Given the description of an element on the screen output the (x, y) to click on. 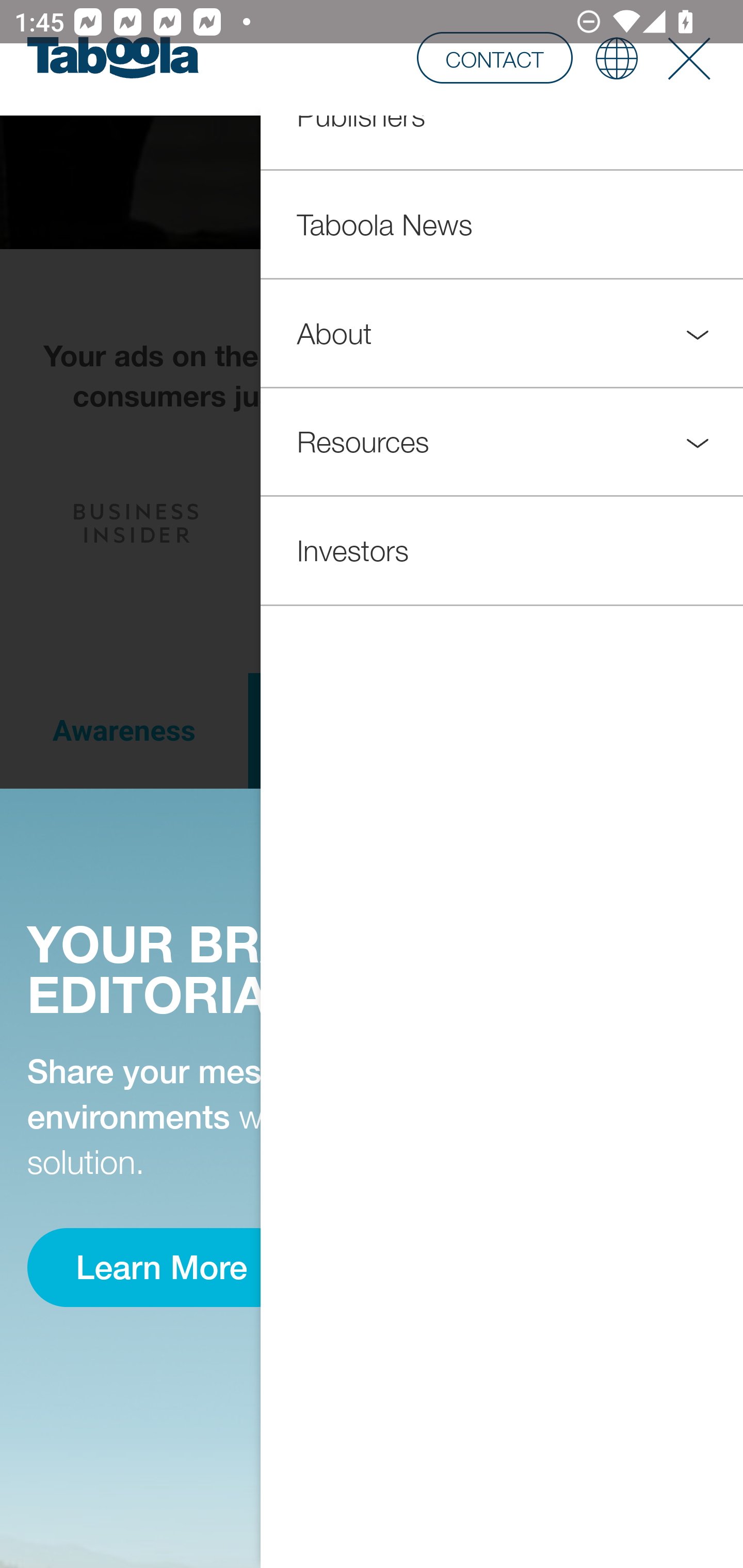
CONTACT (494, 56)
www.taboola (112, 57)
Taboola News (501, 224)
About (501, 333)
Resources (501, 441)
Investors (501, 550)
